Given the description of an element on the screen output the (x, y) to click on. 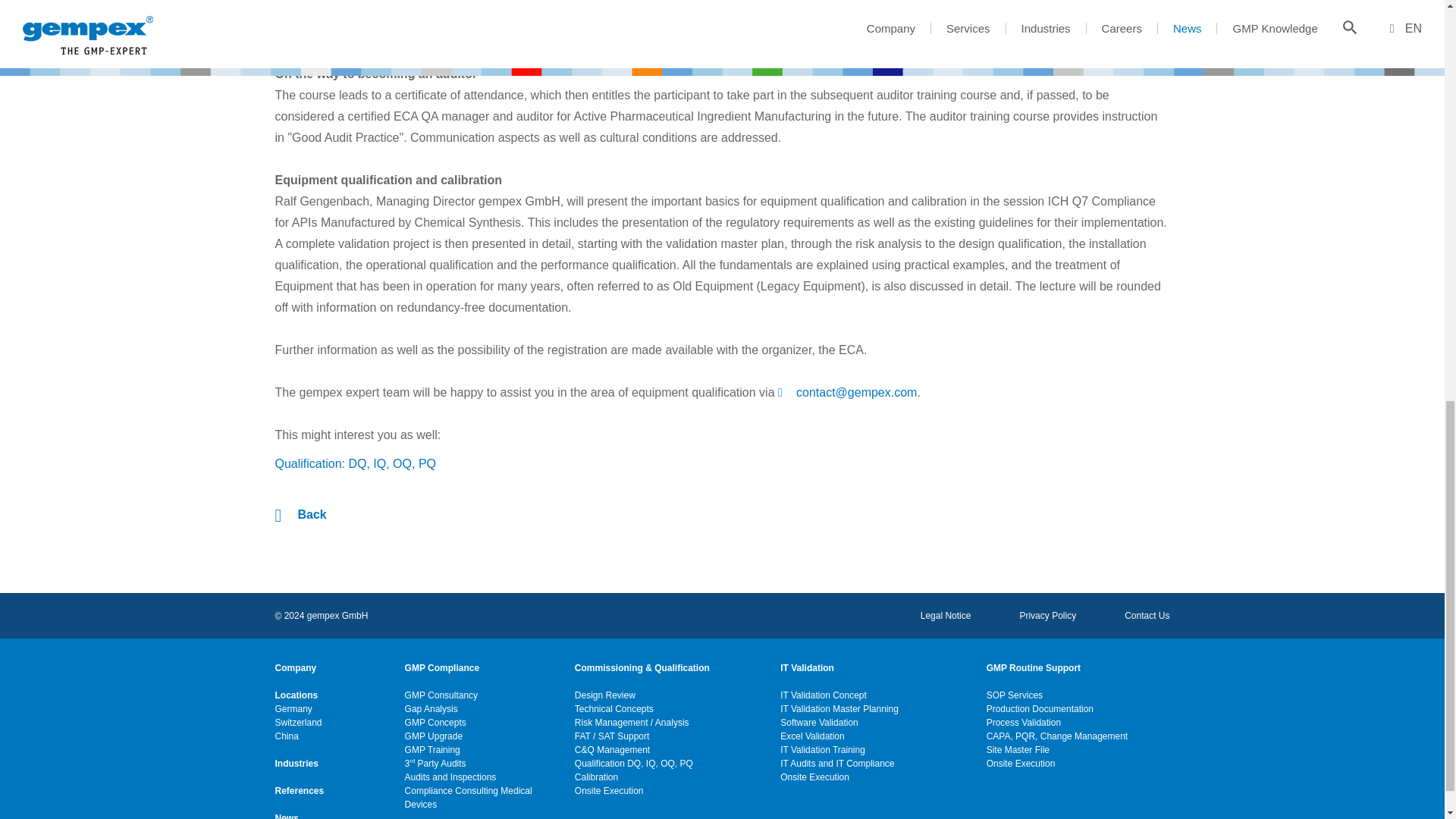
Gap Analysis (431, 708)
Compliance Consulting Medical Devices (478, 797)
Germany (293, 708)
Switzerland (298, 722)
Technical Concepts (614, 708)
Design Review (604, 694)
Audits and Inspections (450, 776)
GMP Upgrade (433, 735)
Industries (296, 763)
References (299, 790)
